Given the description of an element on the screen output the (x, y) to click on. 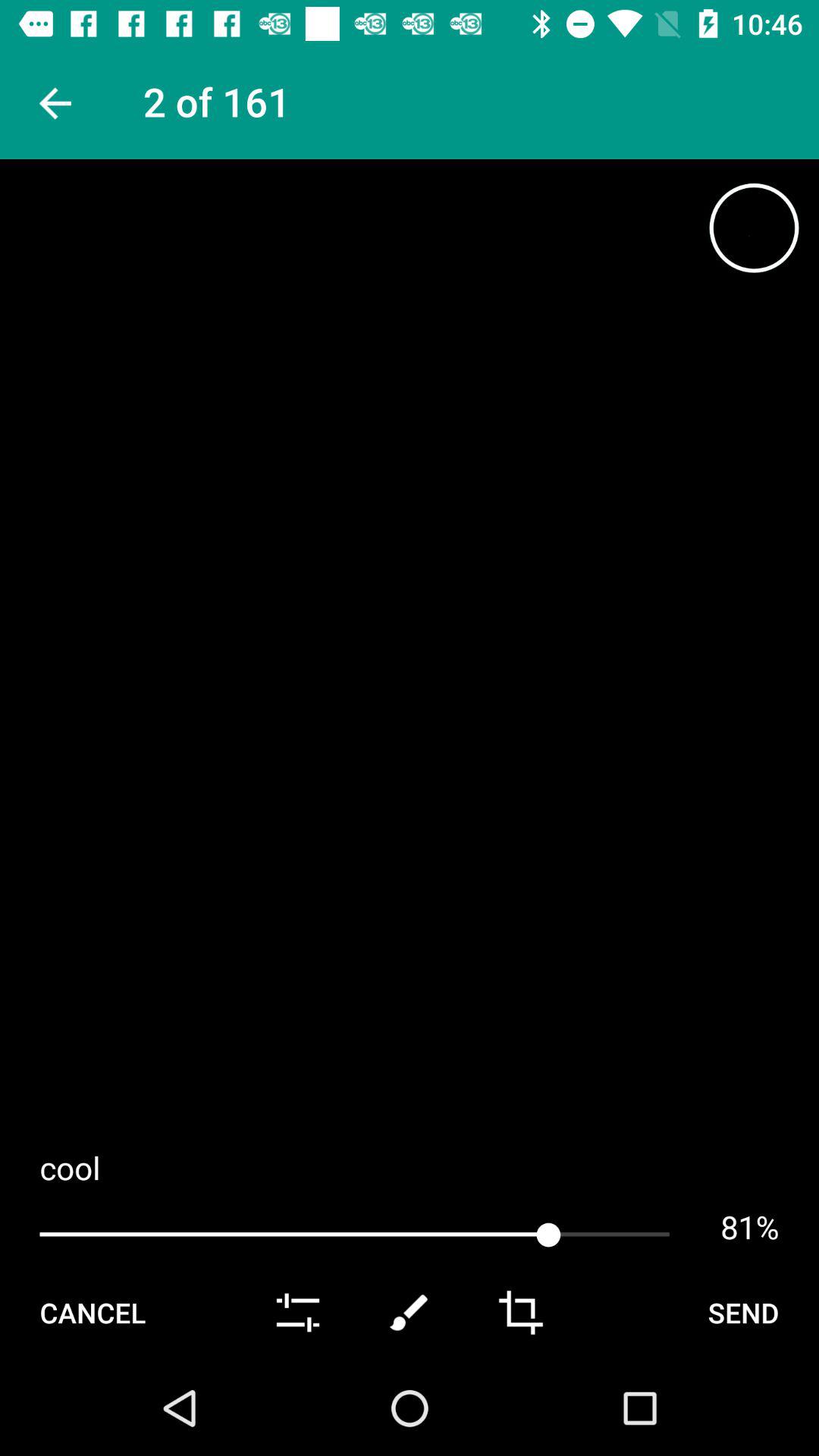
slider toggle (297, 1312)
